Given the description of an element on the screen output the (x, y) to click on. 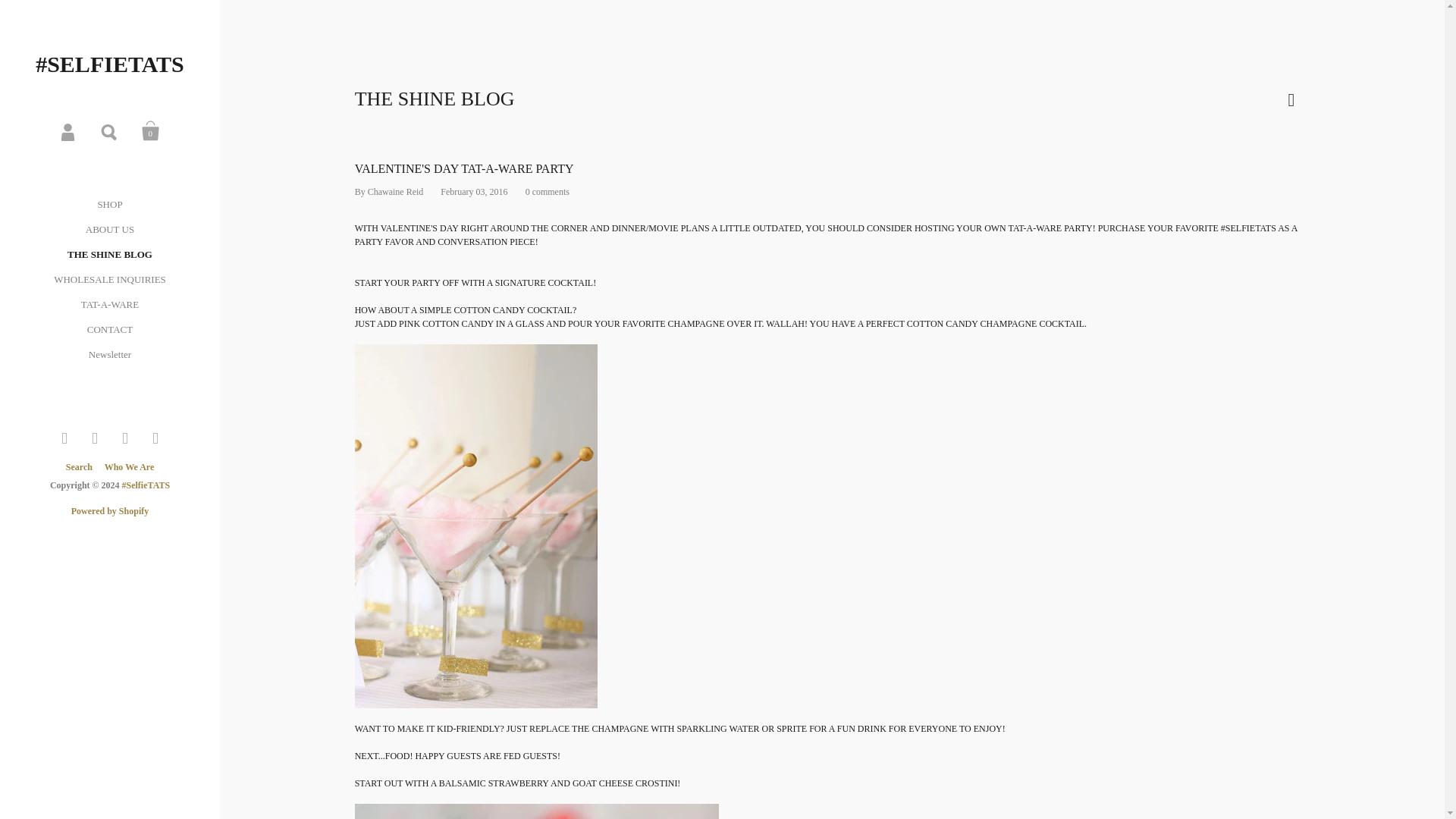
Search (83, 466)
ABOUT US (109, 229)
SHOP (108, 204)
Account (68, 130)
Cart (150, 130)
WHOLESALE INQUIRIES (109, 278)
Powered by Shopify (109, 511)
TAT-A-WARE (109, 303)
THE SHINE BLOG (109, 253)
Newsletter (110, 354)
